Given the description of an element on the screen output the (x, y) to click on. 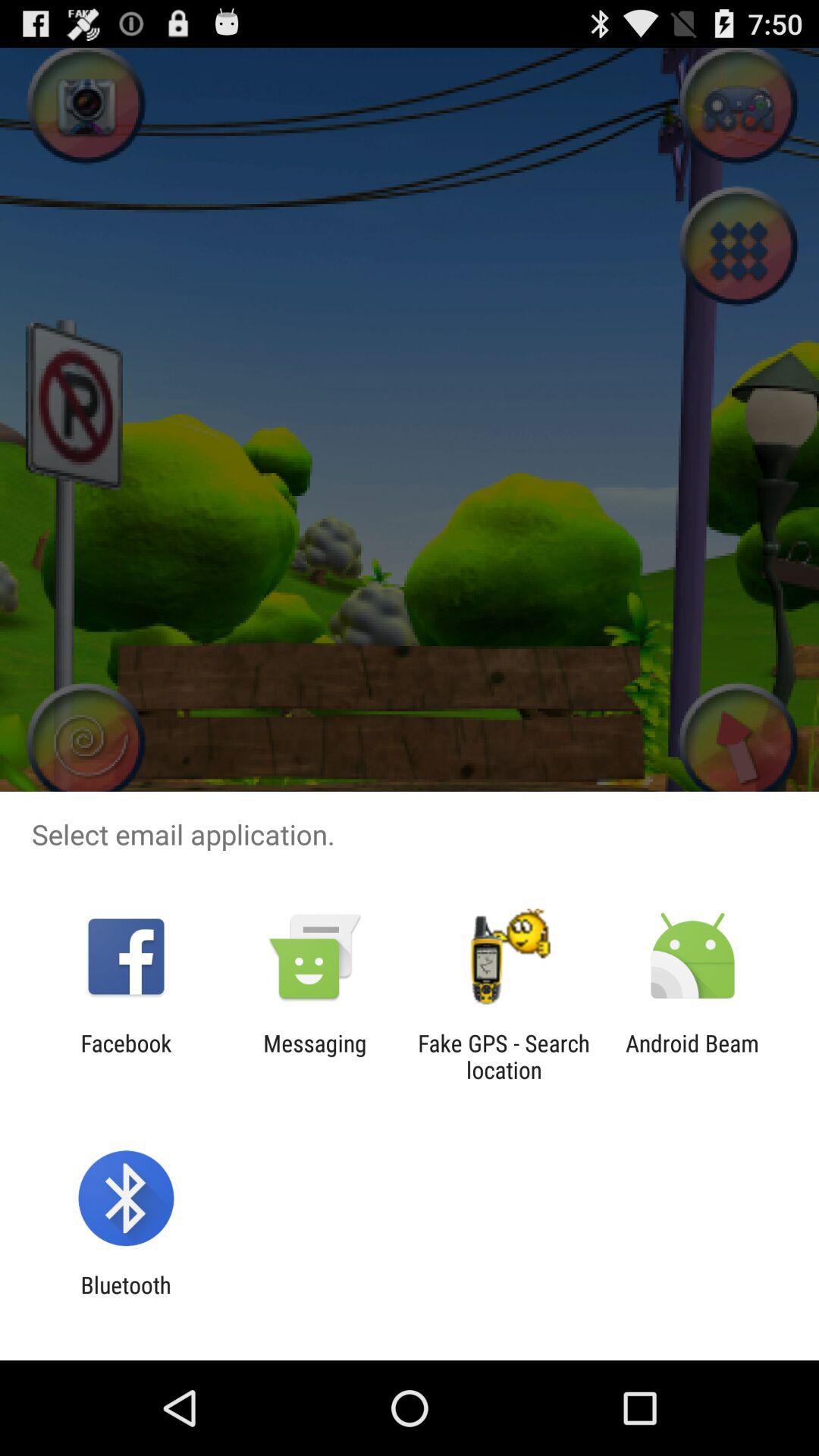
turn on icon next to fake gps search icon (692, 1056)
